Given the description of an element on the screen output the (x, y) to click on. 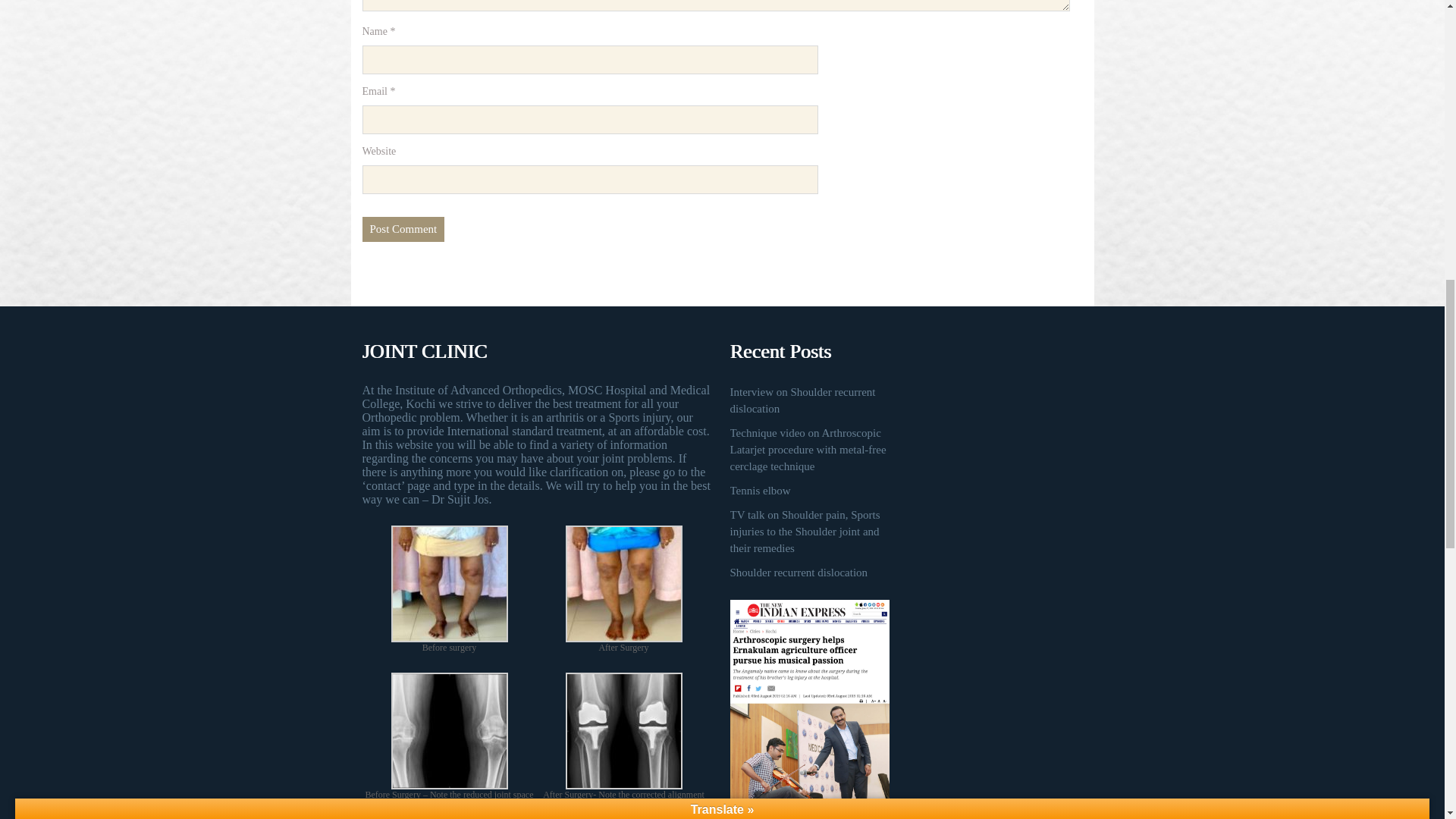
Post Comment (403, 229)
